Given the description of an element on the screen output the (x, y) to click on. 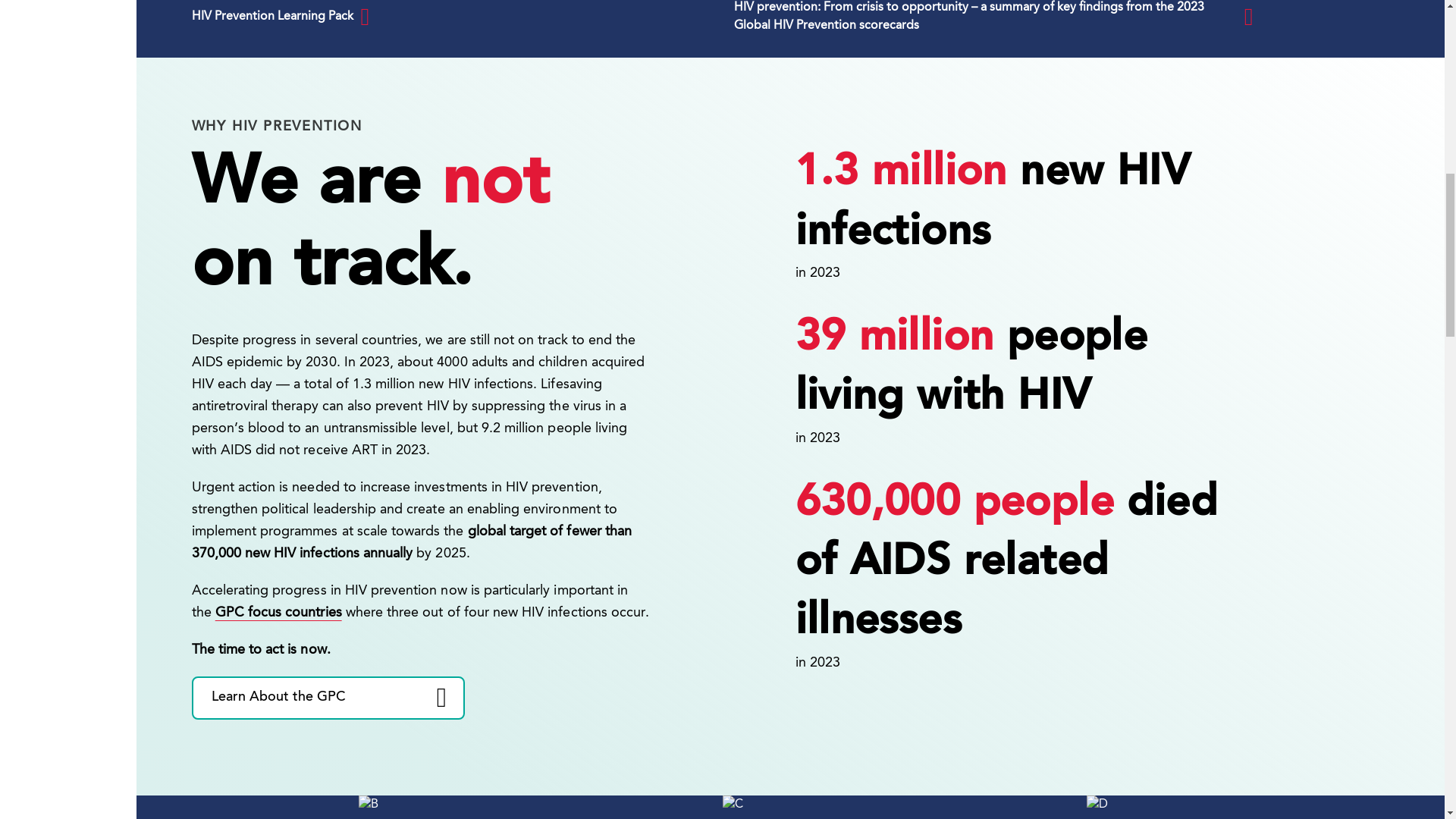
GPC focus countries (278, 612)
Learn About the GPC (327, 697)
HIV Prevention Learning Pack (450, 17)
